Given the description of an element on the screen output the (x, y) to click on. 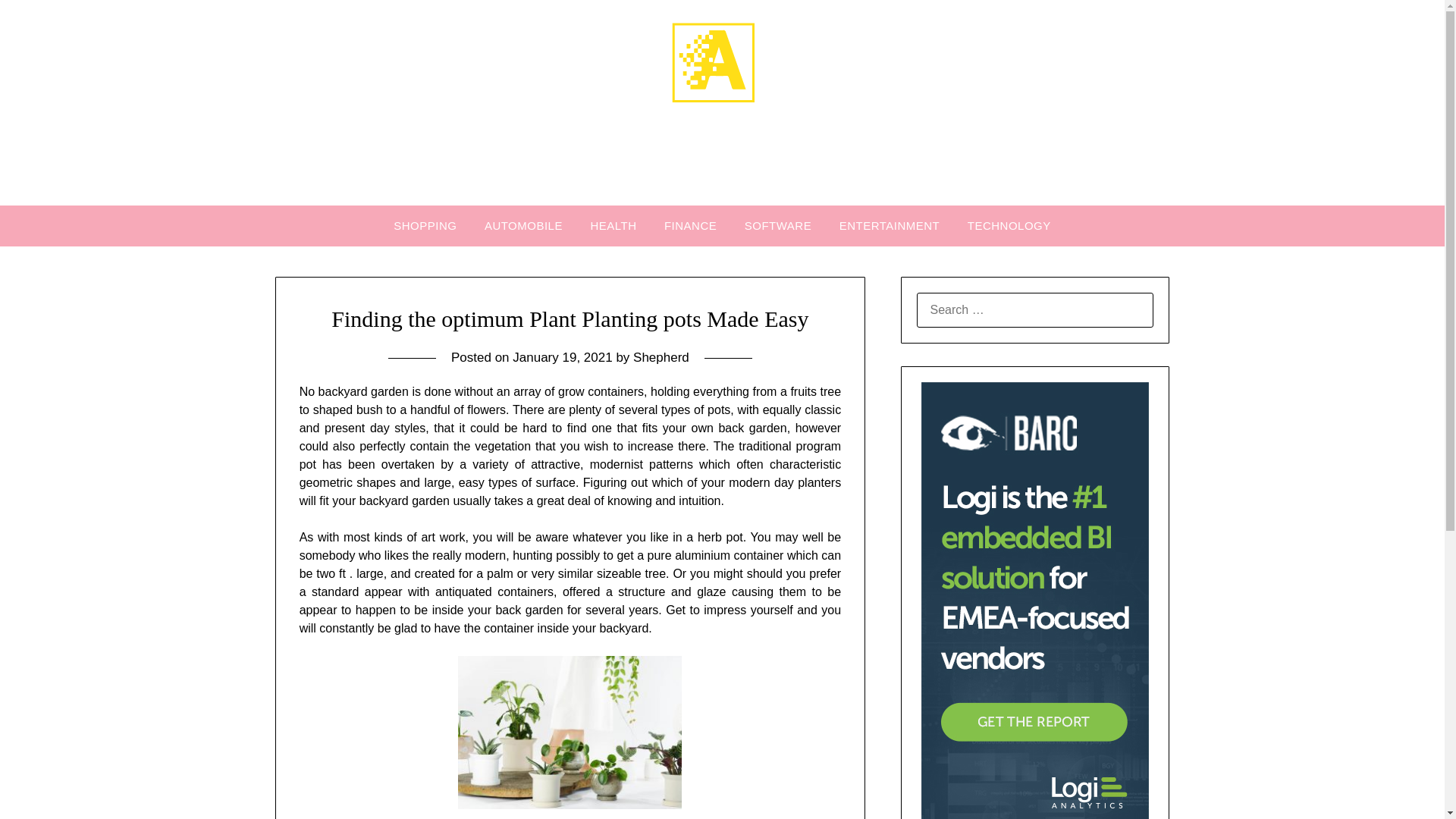
AUTOMOBILE (523, 225)
TECHNOLOGY (1008, 225)
January 19, 2021 (561, 357)
ENTERTAINMENT (889, 225)
FINANCE (690, 225)
SHOPPING (424, 225)
Search (38, 22)
Shepherd (660, 357)
HEALTH (612, 225)
SOFTWARE (778, 225)
